Given the description of an element on the screen output the (x, y) to click on. 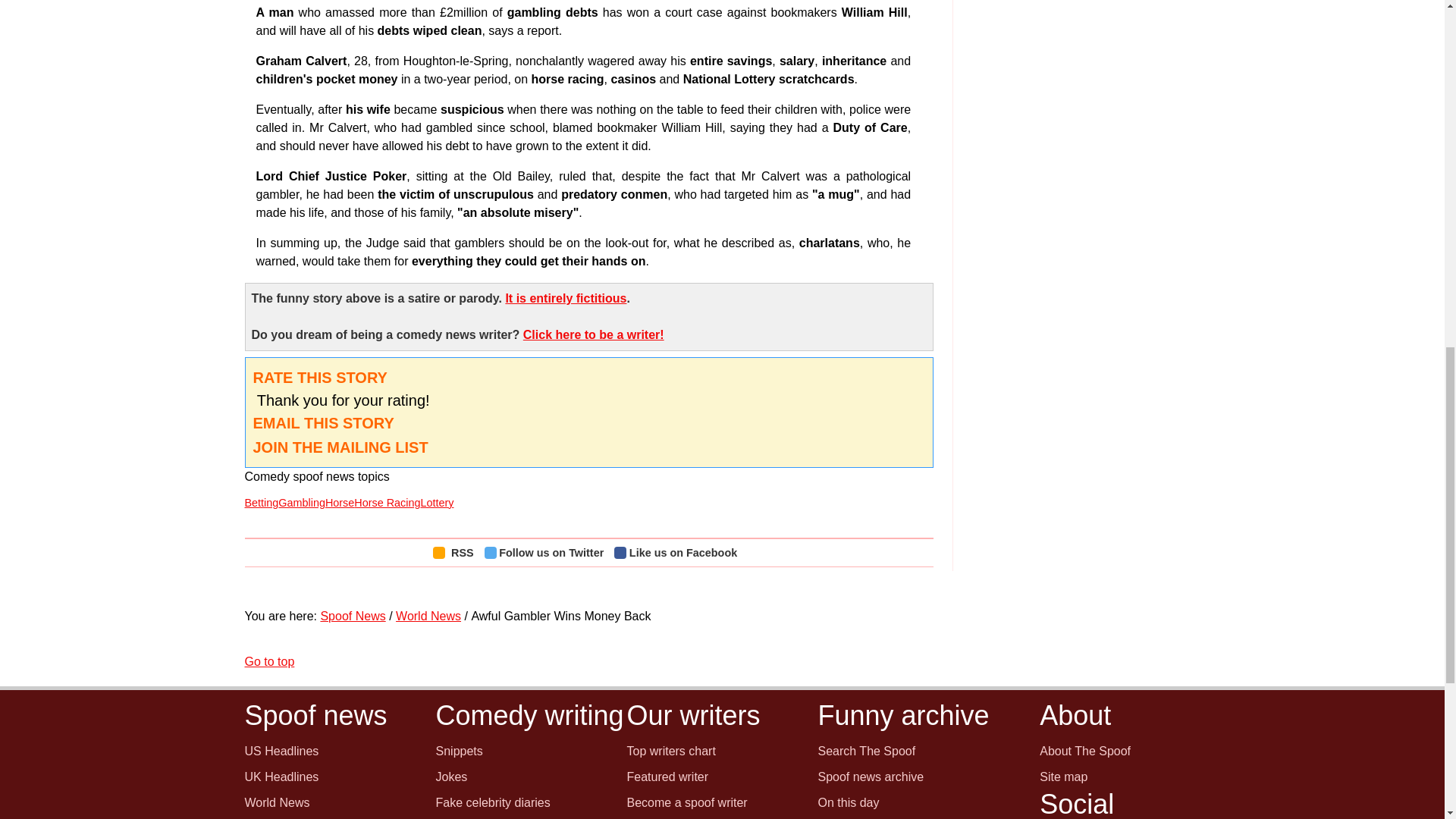
Click here to be a writer! (592, 334)
Spoof News US Headlines (281, 750)
Betting (261, 502)
Spoof News (352, 615)
Go to top (269, 661)
World News (428, 615)
Like us on Facebook (679, 552)
View RSS Feed (456, 552)
EMAIL THIS STORY (323, 422)
Horse (338, 502)
